Given the description of an element on the screen output the (x, y) to click on. 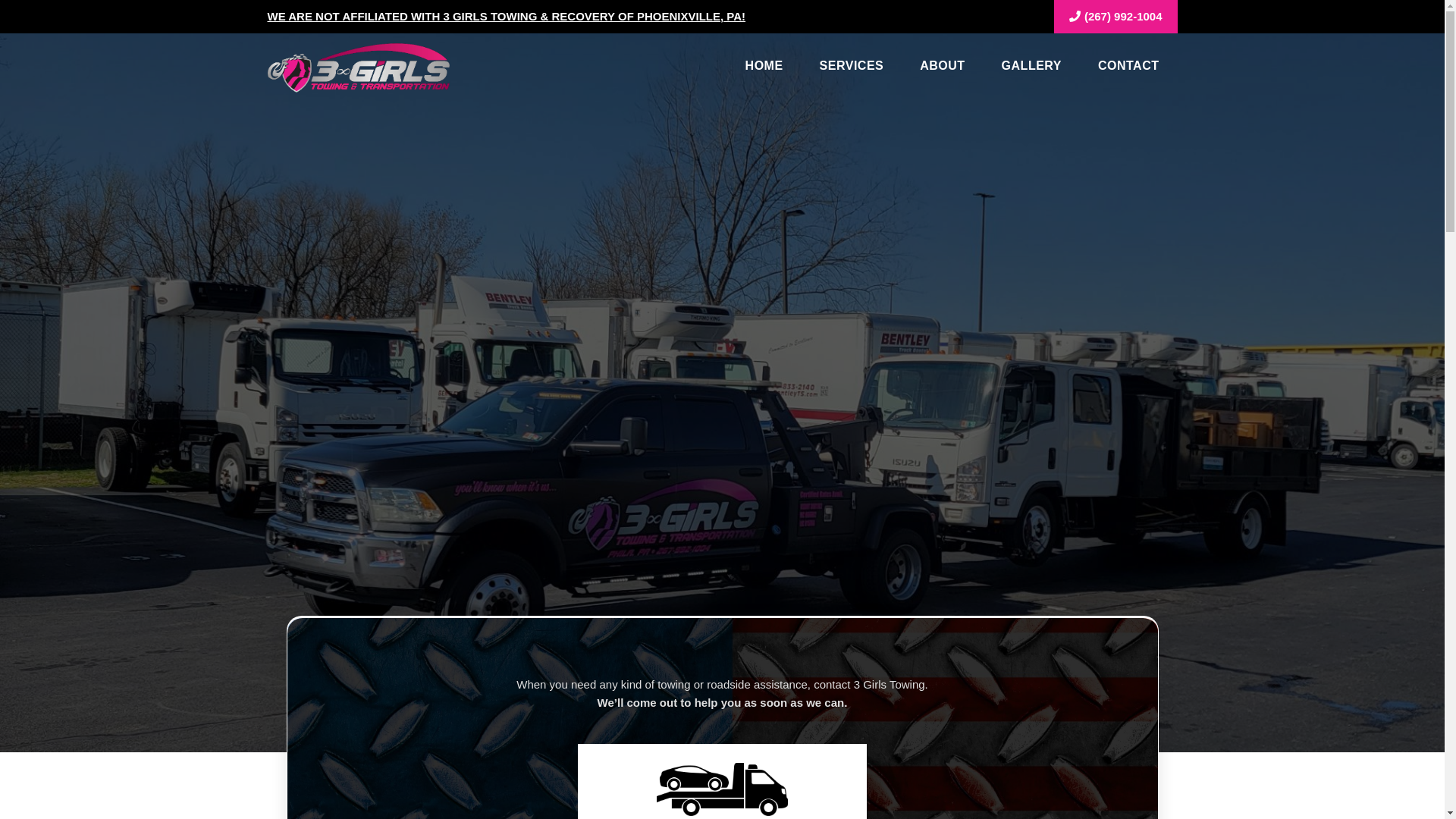
GALLERY Element type: text (1031, 67)
Flatbed Element type: hover (721, 788)
CONTACT Element type: text (1128, 67)
ABOUT Element type: text (941, 67)
HOME Element type: text (764, 67)
(267) 992-1004 Element type: text (1115, 16)
3 Girls Towing Element type: hover (357, 67)
SERVICES Element type: text (851, 67)
3 Girls Towing Element type: hover (357, 66)
